Given the description of an element on the screen output the (x, y) to click on. 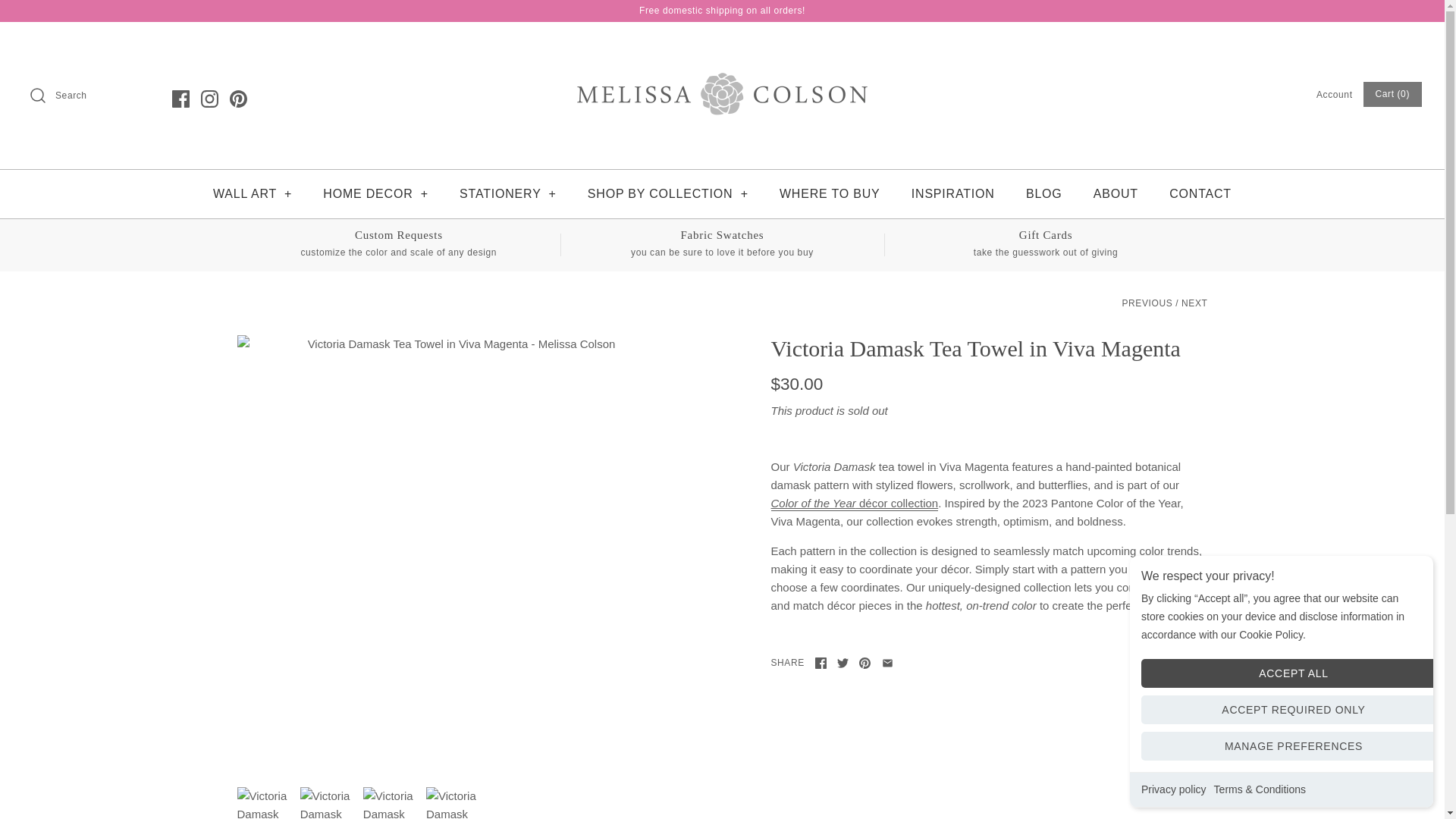
Victoria Damask Tea Towel in Viva Magenta - Melissa Colson (453, 803)
Facebook (180, 98)
Instagram (209, 98)
Instagram (209, 98)
Pinterest (238, 98)
Pin the main image (864, 663)
Melissa Colson (721, 45)
Facebook (180, 98)
Facebook (821, 663)
Pinterest (238, 98)
